Given the description of an element on the screen output the (x, y) to click on. 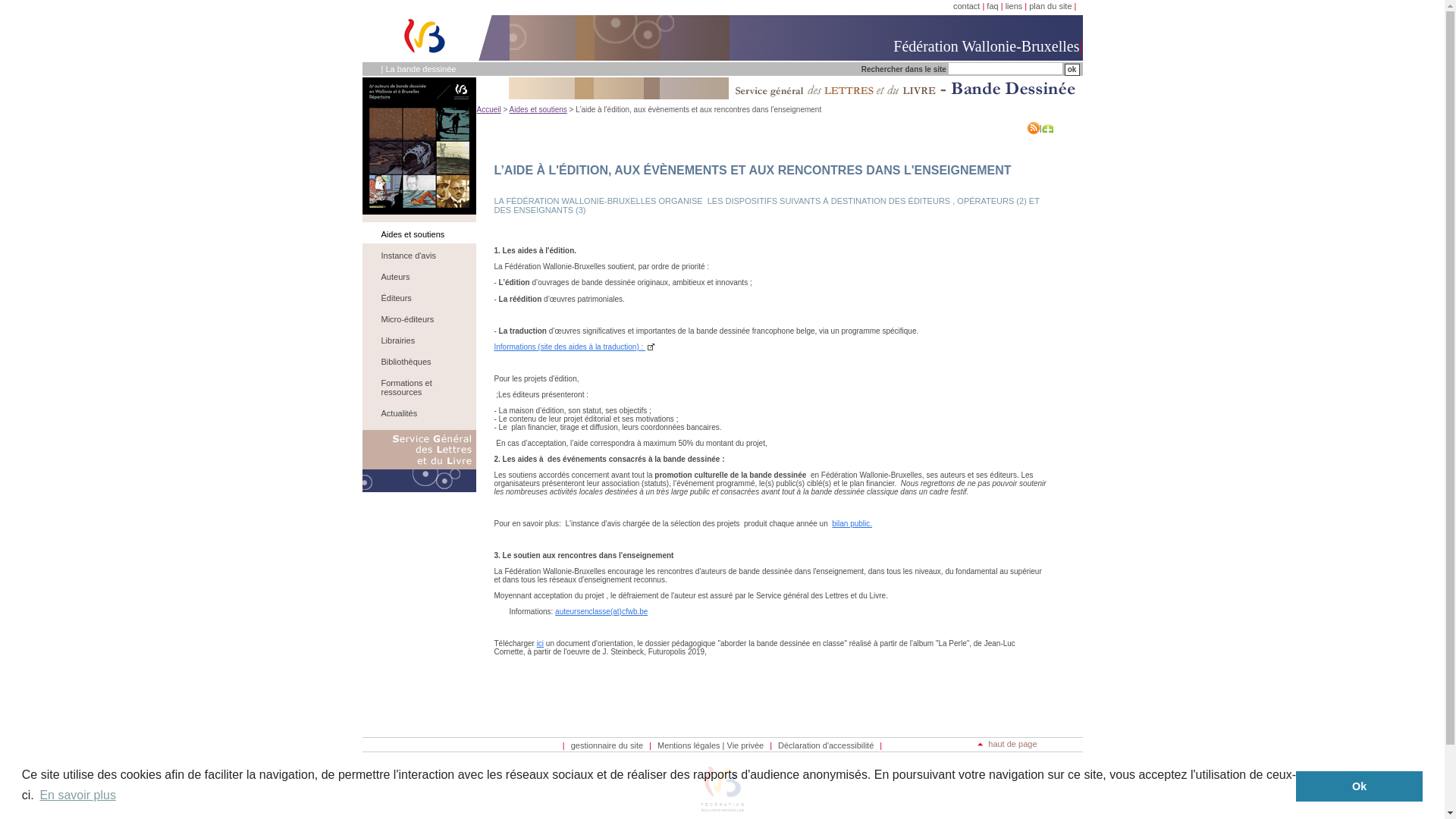
Aides et soutiens Element type: text (419, 233)
En savoir plus Element type: text (77, 795)
Auteurs Element type: text (419, 276)
ok Element type: text (1071, 69)
contact Element type: text (966, 5)
Plus de choix Element type: hover (1047, 127)
Image d'illustration Element type: hover (419, 145)
faq Element type: text (991, 5)
Librairies Element type: text (419, 340)
liens Element type: text (1013, 5)
Formations et ressources Element type: text (419, 387)
Instance d'avis Element type: text (419, 255)
rechercher Element type: hover (1071, 69)
Ok Element type: text (1358, 786)
auteursenclasse(at)cfwb.be Element type: text (601, 611)
haut de page Element type: text (1006, 743)
gestionnaire du site Element type: text (607, 744)
plan du site Element type: text (1050, 5)
ici Element type: text (539, 643)
Accueil Element type: text (488, 109)
Aides et soutiens Element type: text (538, 109)
bilan public. Element type: text (851, 523)
